Given the description of an element on the screen output the (x, y) to click on. 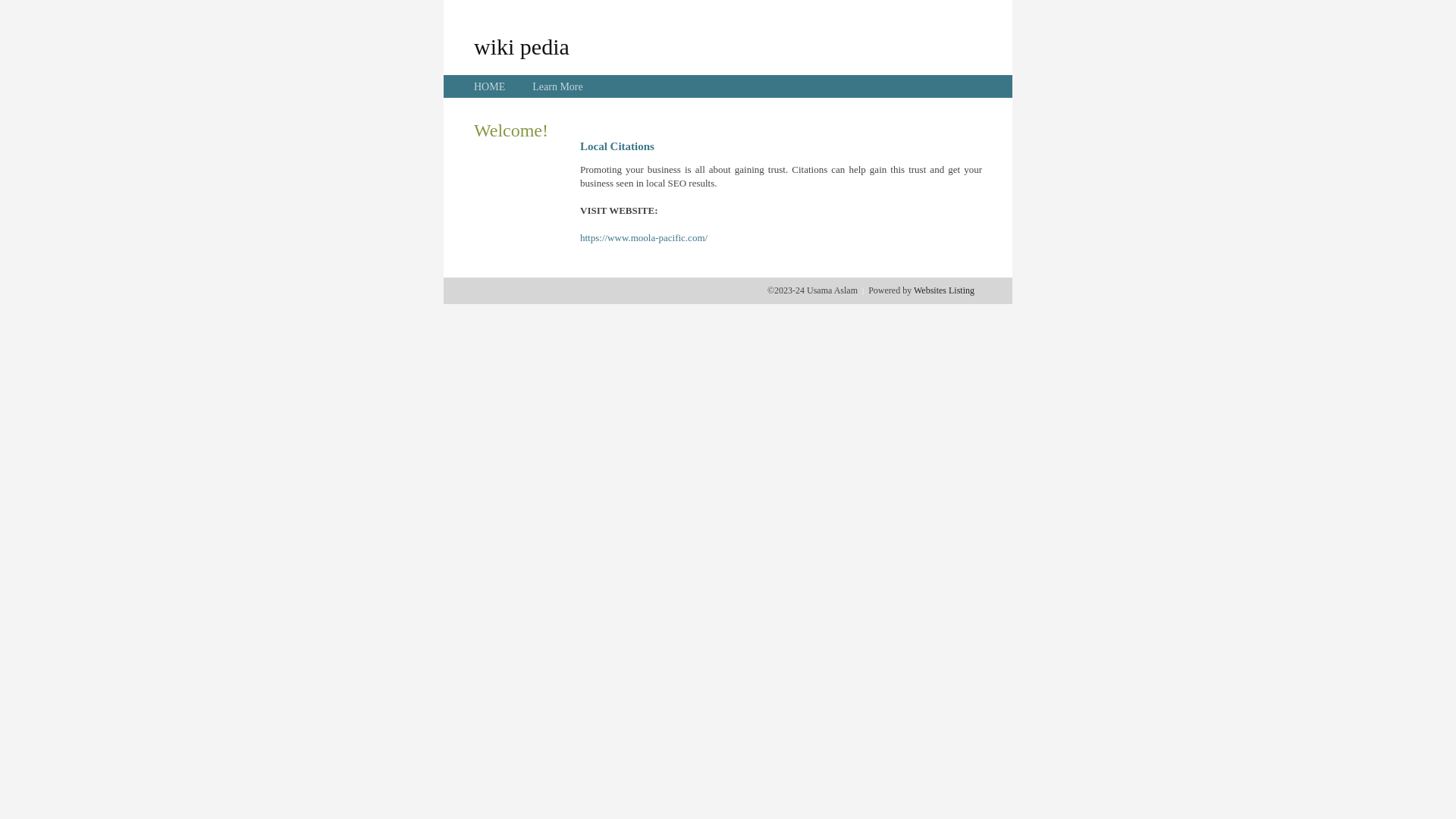
https://www.moola-pacific.com/ Element type: text (643, 237)
wiki pedia Element type: text (521, 46)
HOME Element type: text (489, 86)
Websites Listing Element type: text (943, 290)
Learn More Element type: text (557, 86)
